Given the description of an element on the screen output the (x, y) to click on. 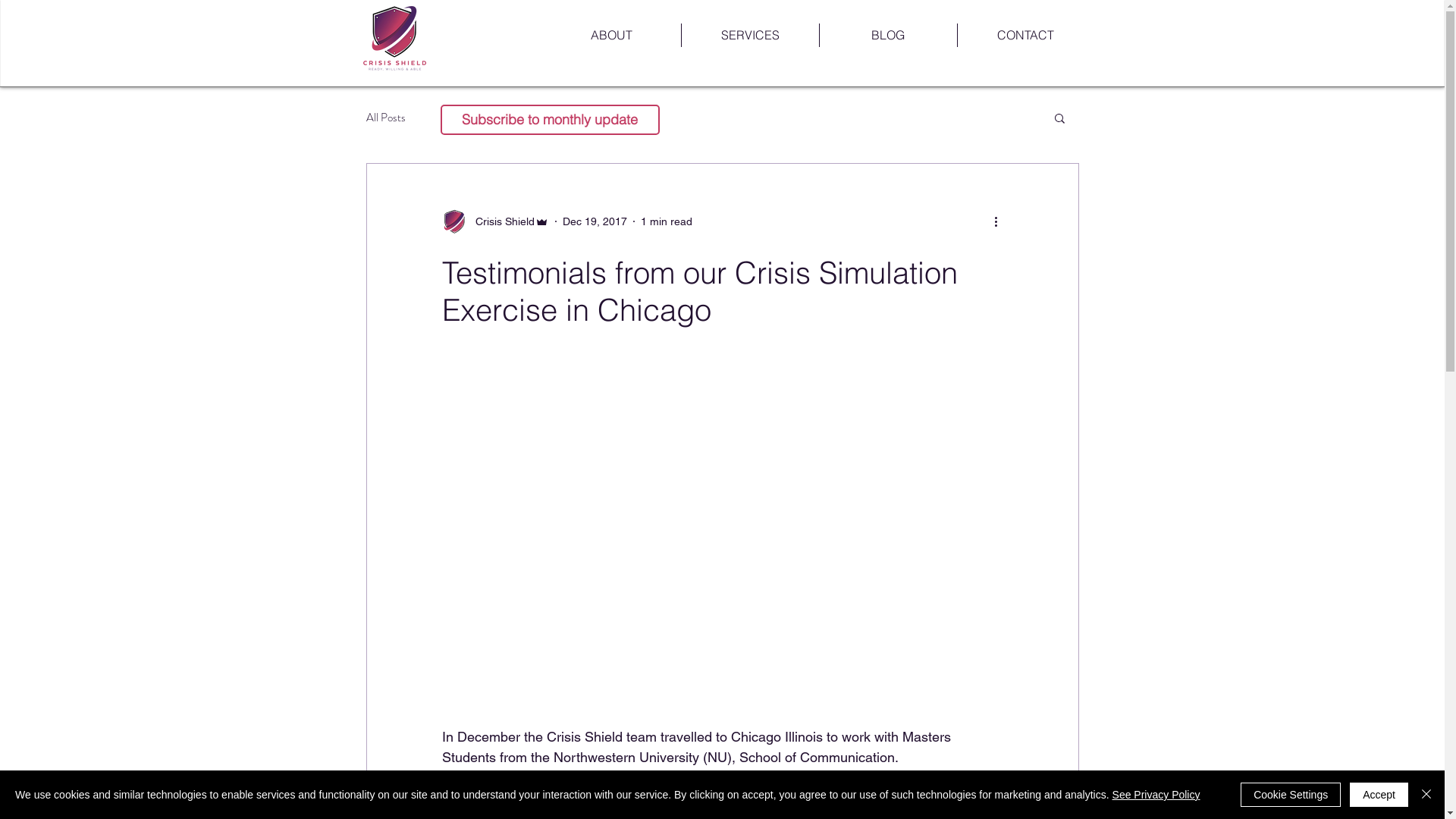
Cookie Settings Element type: text (1290, 794)
SERVICES Element type: text (749, 35)
Subscribe to monthly update Element type: text (548, 119)
BLOG Element type: text (887, 35)
All Posts Element type: text (384, 117)
ABOUT Element type: text (611, 35)
Accept Element type: text (1378, 794)
See Privacy Policy Element type: text (1156, 794)
CONTACT Element type: text (1025, 35)
Crisis Shield Element type: hover (394, 38)
